Given the description of an element on the screen output the (x, y) to click on. 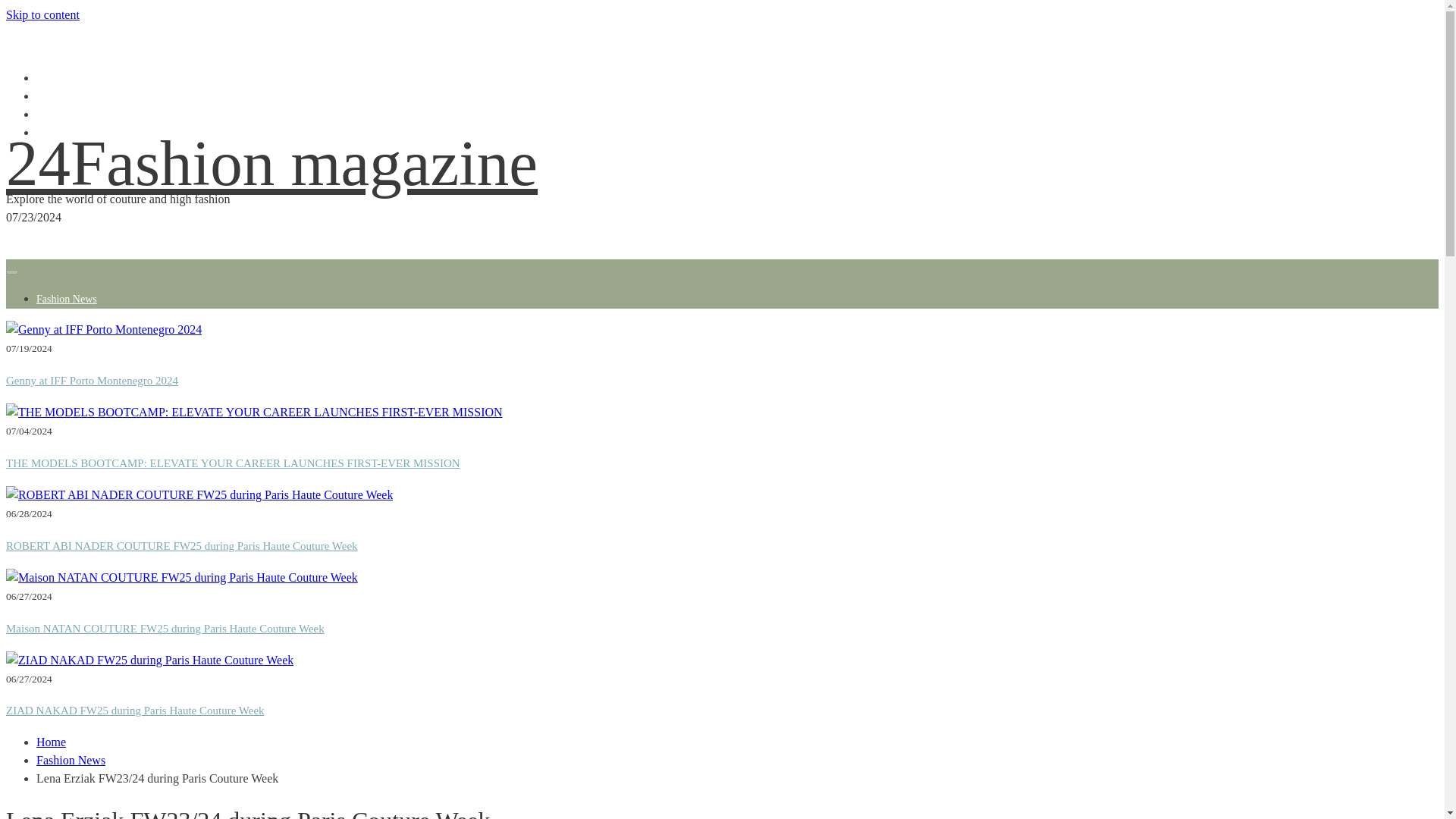
ZIAD NAKAD FW25 during Paris Haute Couture Week (149, 659)
ZIAD NAKAD FW25 during Paris Haute Couture Week (134, 710)
Maison NATAN COUTURE FW25 during Paris Haute Couture Week (164, 628)
Maison NATAN COUTURE FW25 during Paris Haute Couture Week (181, 577)
Fashion News (70, 759)
Home (50, 741)
Fashion News (66, 298)
Genny at IFF Porto Montenegro 2024 (103, 330)
Genny at IFF Porto Montenegro 2024 (91, 380)
Skip to content (42, 14)
24Fashion magazine (271, 163)
